Given the description of an element on the screen output the (x, y) to click on. 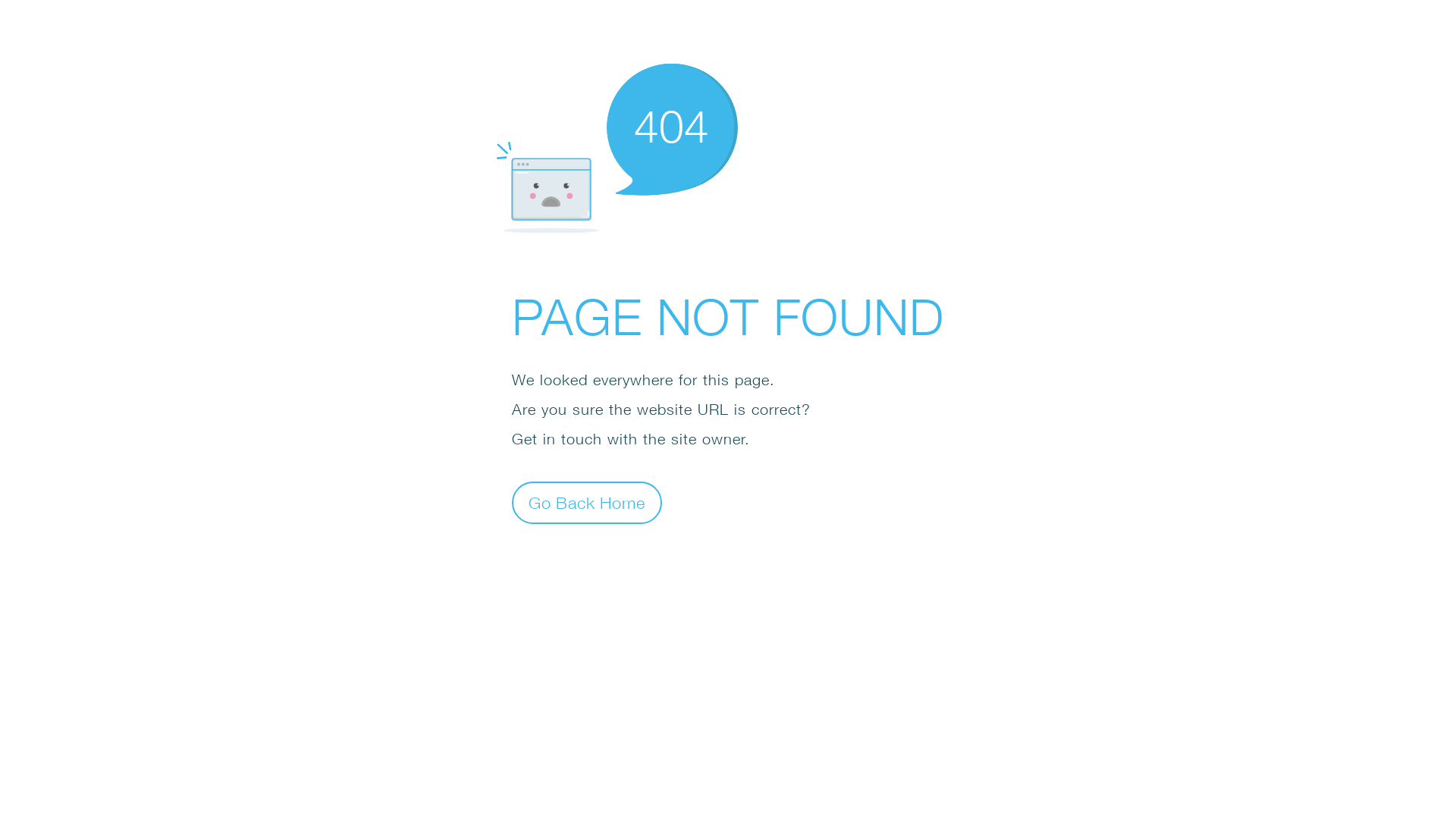
Go Back Home Element type: text (586, 502)
